Given the description of an element on the screen output the (x, y) to click on. 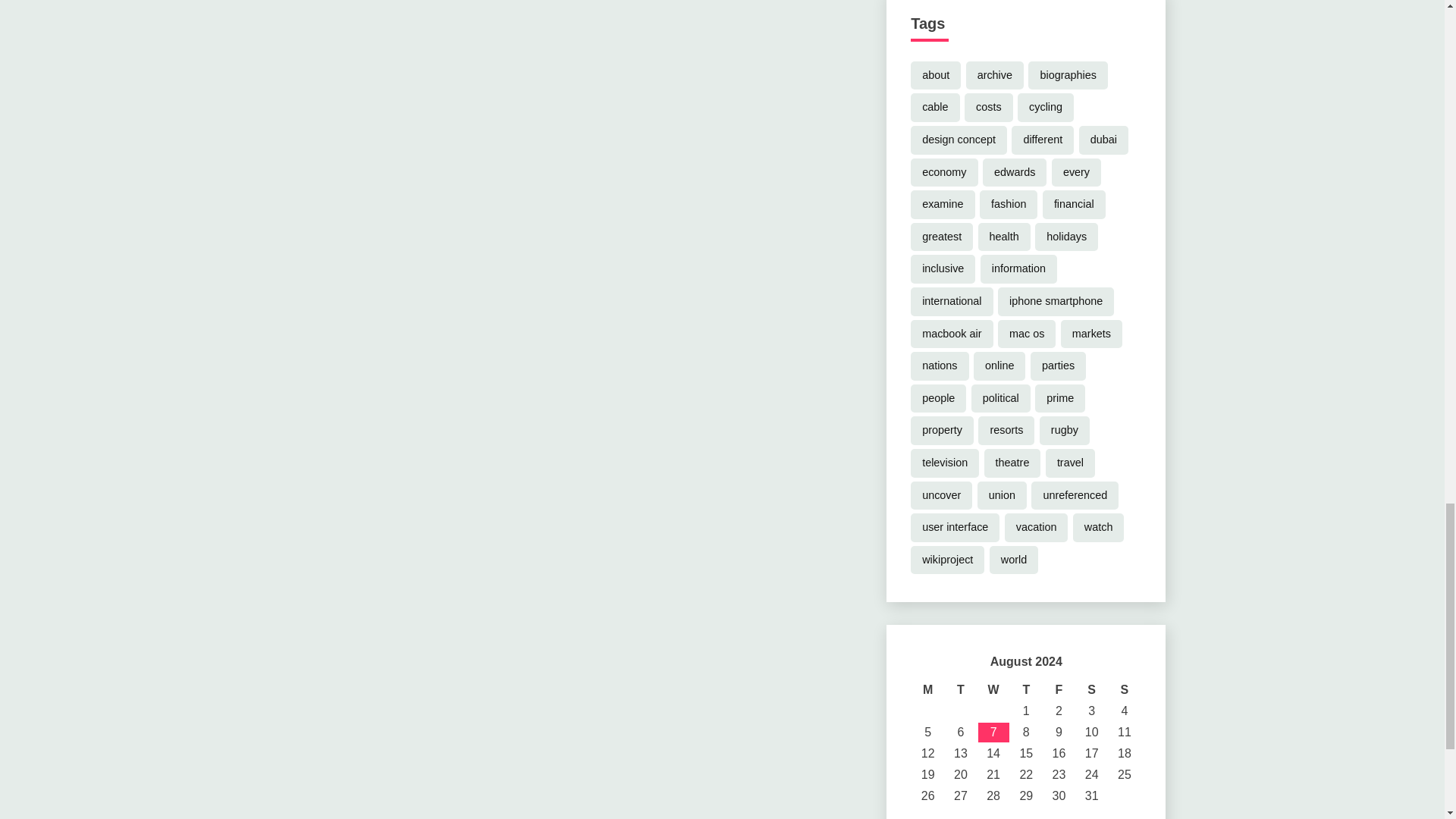
Tuesday (959, 690)
Friday (1058, 690)
Sunday (1124, 690)
Thursday (1026, 690)
Wednesday (993, 690)
Saturday (1090, 690)
Monday (927, 690)
